Given the description of an element on the screen output the (x, y) to click on. 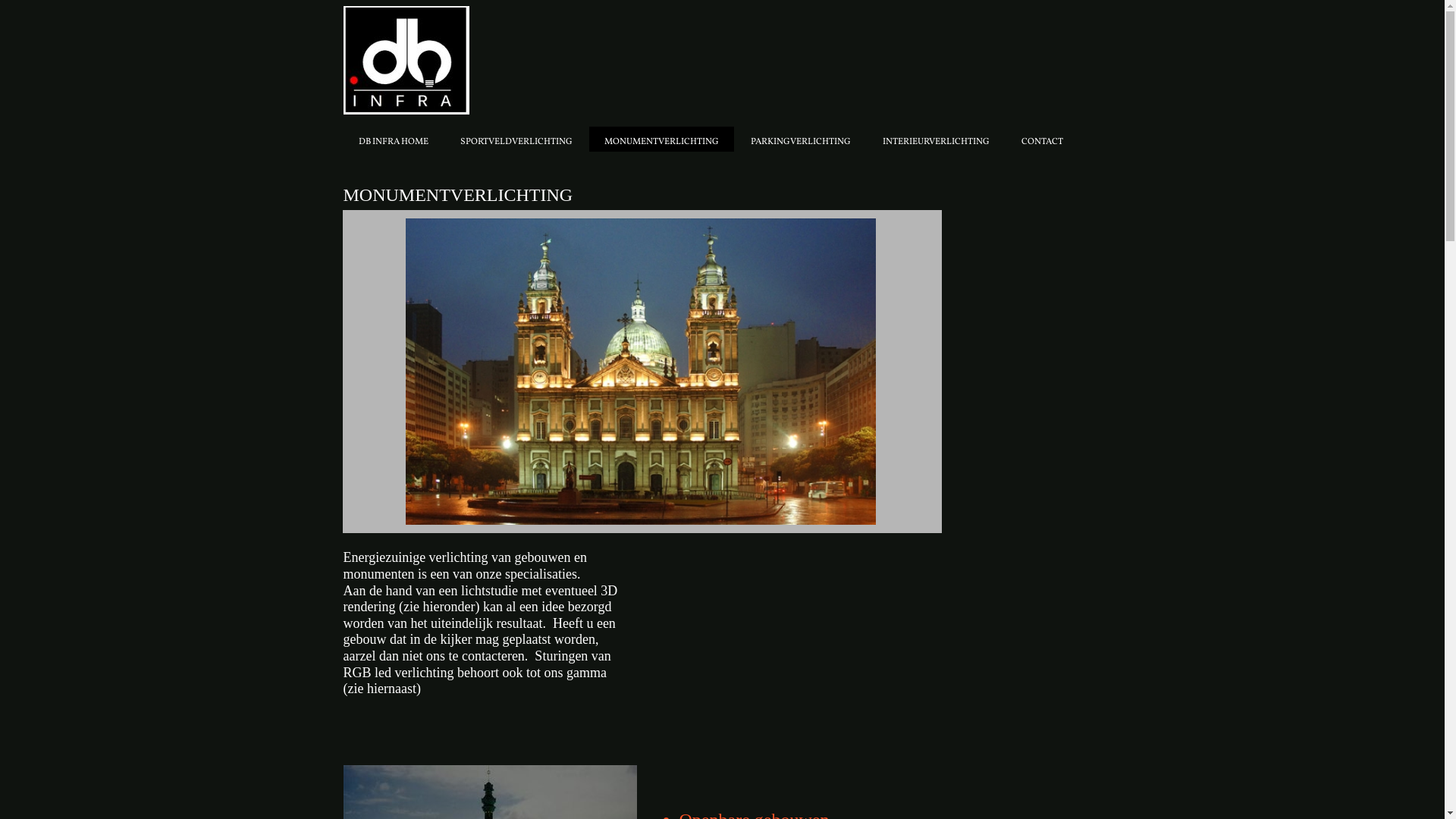
PARKINGVERLICHTING Element type: text (800, 138)
SPORTVELDVERLICHTING Element type: text (515, 138)
INTERIEURVERLICHTING Element type: text (935, 138)
CONTACT Element type: text (1041, 138)
MONUMENTVERLICHTING Element type: text (660, 138)
DB INFRA HOME Element type: text (392, 138)
